Given the description of an element on the screen output the (x, y) to click on. 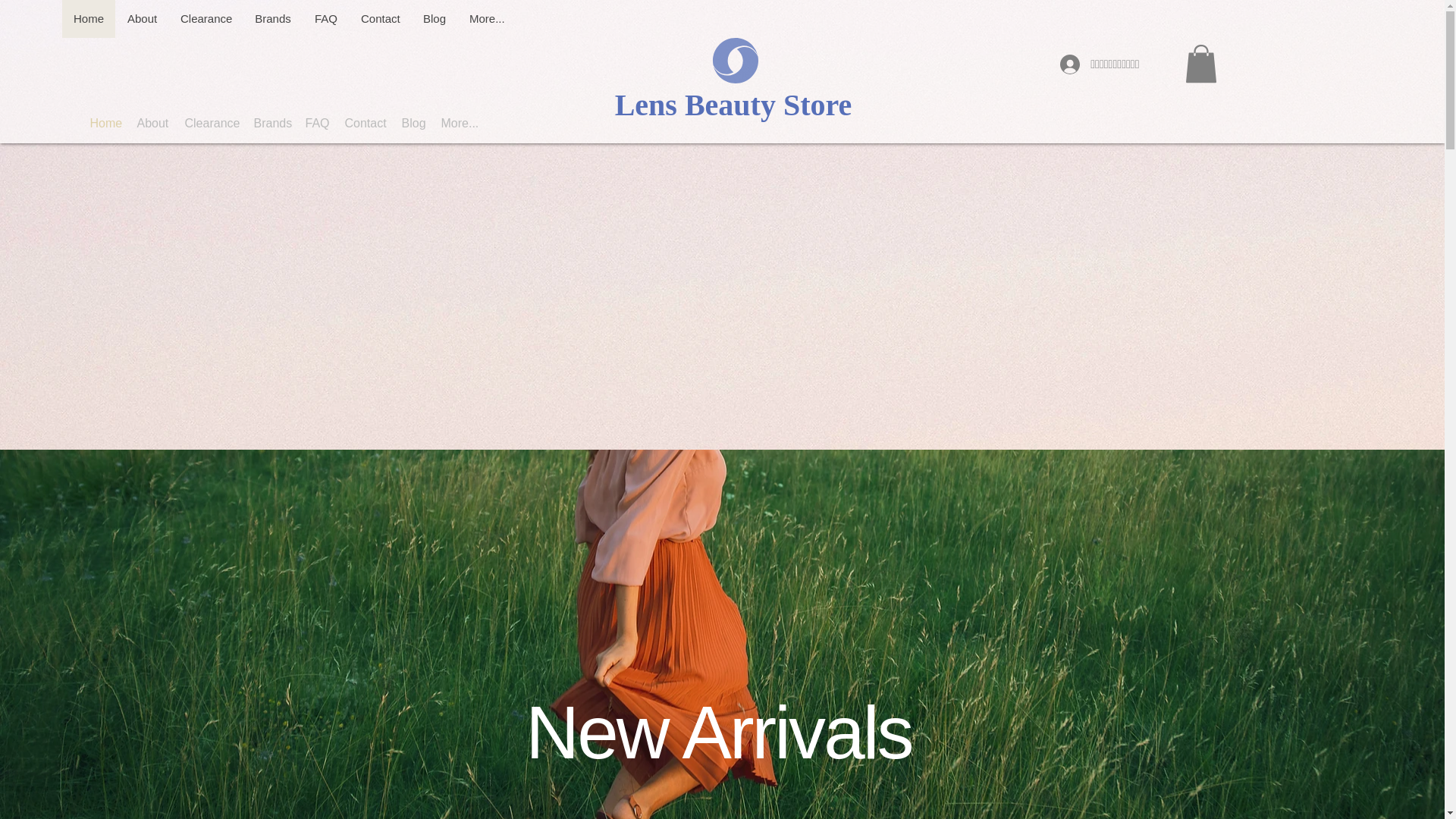
Contact (379, 18)
About (152, 123)
About (141, 18)
Home (105, 123)
Brands (271, 123)
Brands (272, 18)
Blog (433, 18)
Lens Beauty Store (732, 104)
Home (88, 18)
FAQ (325, 18)
